Given the description of an element on the screen output the (x, y) to click on. 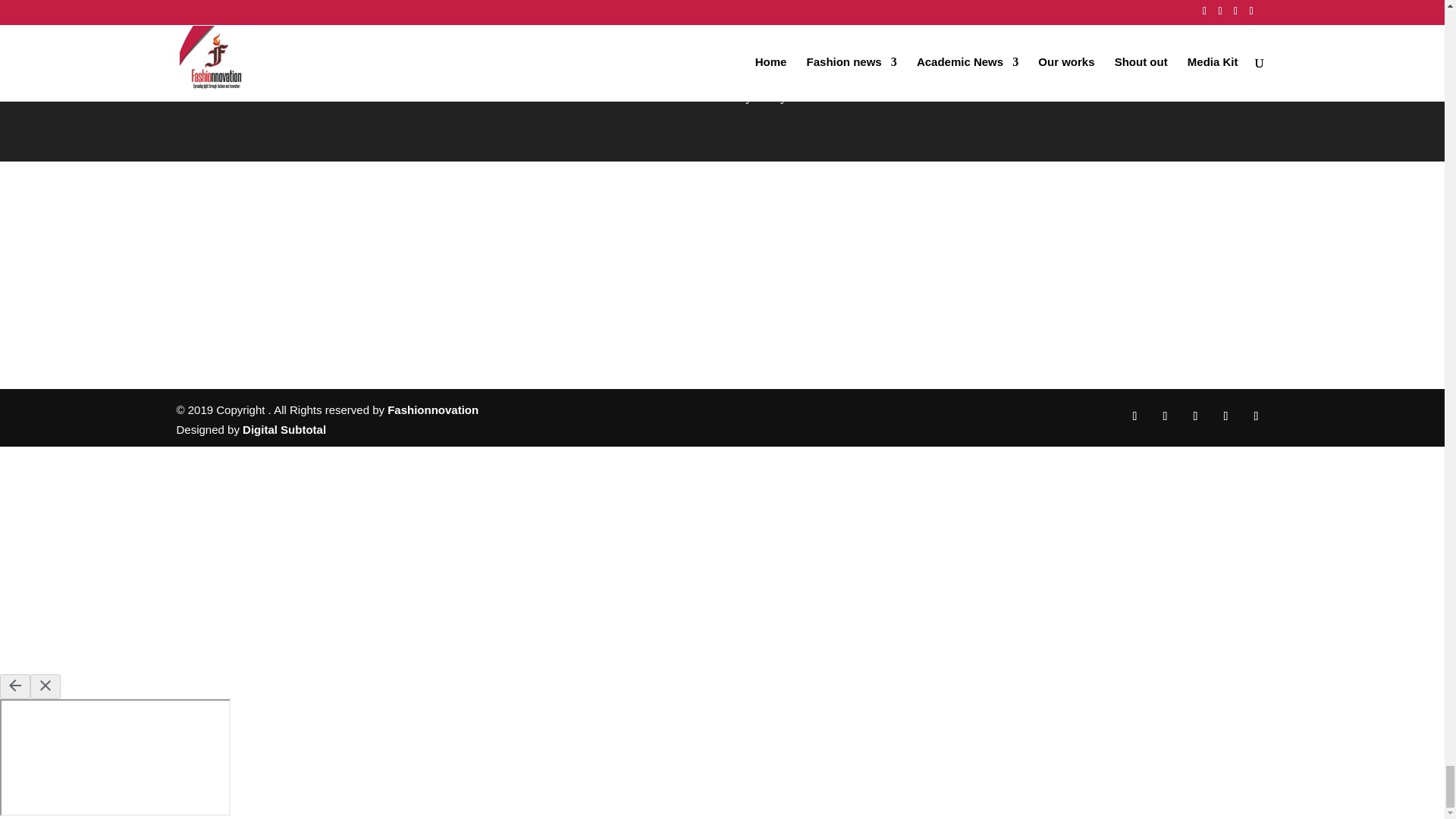
Follow on Youtube (1255, 416)
Follow on Facebook (1134, 416)
Follow on Instagram (1164, 416)
Follow on LinkedIn (1194, 416)
Follow on Pinterest (1224, 416)
